Given the description of an element on the screen output the (x, y) to click on. 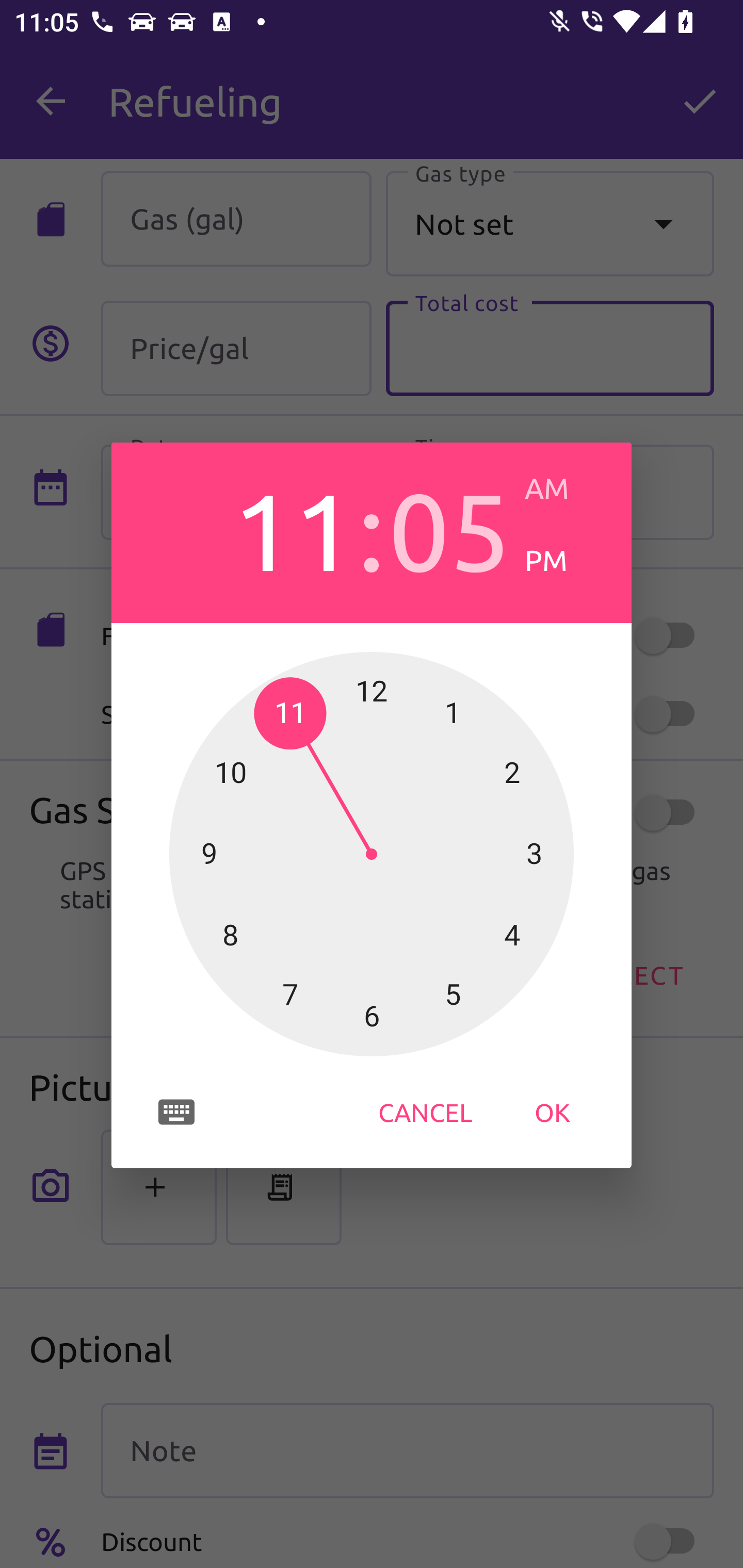
AM (563, 488)
11 (293, 528)
05 (449, 528)
PM (563, 560)
CANCEL (425, 1111)
OK (552, 1111)
Switch to text input mode for the time input. (175, 1112)
